Given the description of an element on the screen output the (x, y) to click on. 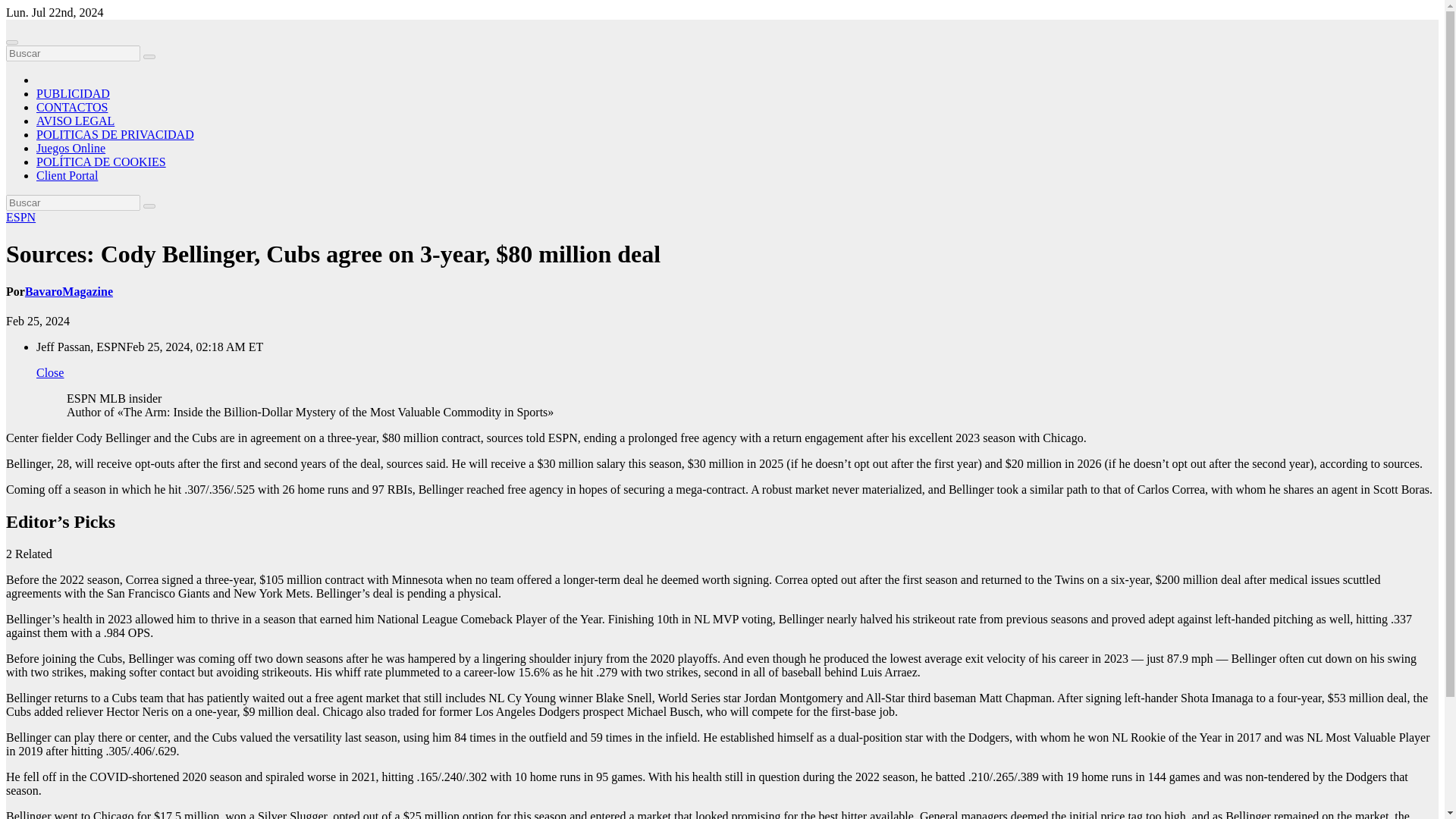
Juegos Online (70, 147)
POLITICAS DE PRIVACIDAD (114, 133)
Juegos Online (70, 147)
AVISO LEGAL (75, 120)
Client Portal (66, 174)
BavaroMagazine (68, 291)
PUBLICIDAD (73, 92)
PUBLICIDAD (73, 92)
ESPN (19, 216)
AVISO LEGAL (75, 120)
POLITICAS DE PRIVACIDAD (114, 133)
Client Portal (66, 174)
Close (50, 372)
CONTACTOS (71, 106)
